Given the description of an element on the screen output the (x, y) to click on. 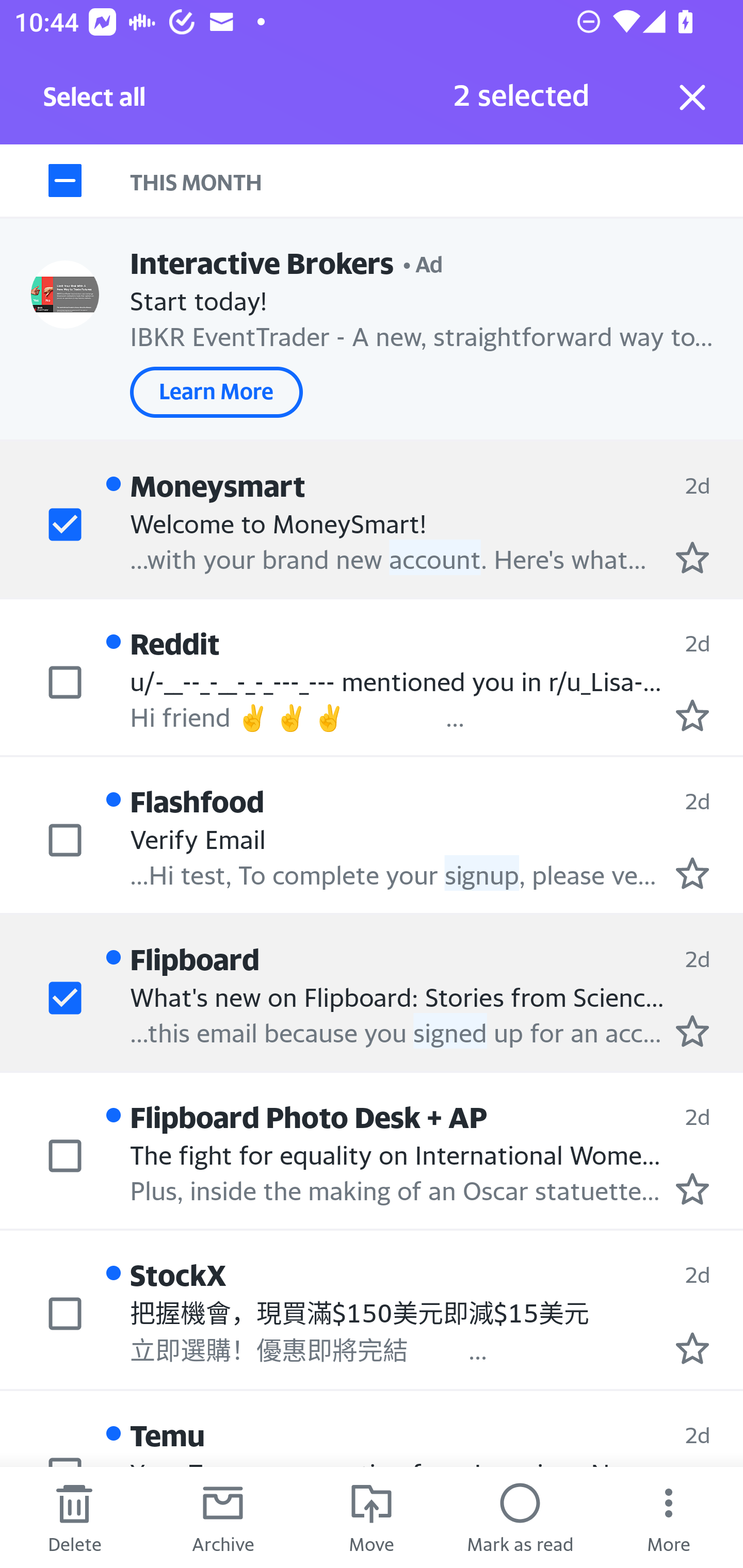
Exit selection mode (692, 97)
Select all (94, 101)
THIS MONTH (436, 180)
• Ad (422, 262)
Mark as starred. (692, 557)
Mark as starred. (692, 715)
Mark as starred. (692, 872)
Mark as starred. (692, 1030)
Mark as starred. (692, 1189)
Mark as starred. (692, 1347)
Delete (74, 1517)
Archive (222, 1517)
Move (371, 1517)
Mark as read (519, 1517)
More (668, 1517)
